Given the description of an element on the screen output the (x, y) to click on. 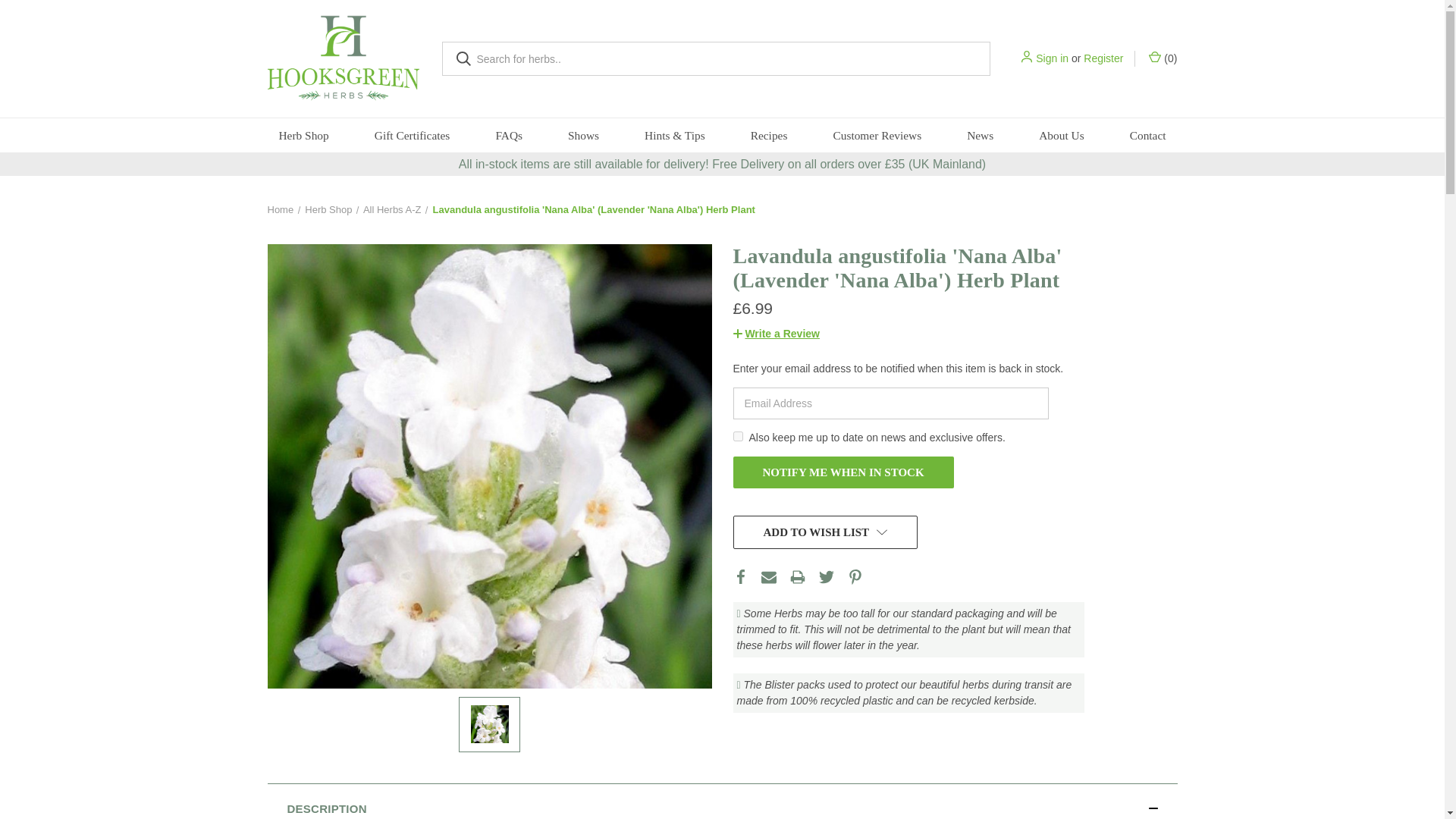
Notify Me When In Stock (842, 472)
Sign in (1051, 58)
FAQs (507, 134)
Register (1102, 58)
on (737, 436)
Gift Certificates (412, 134)
Hooks Green Herbs (342, 58)
Herb Shop (304, 134)
